Given the description of an element on the screen output the (x, y) to click on. 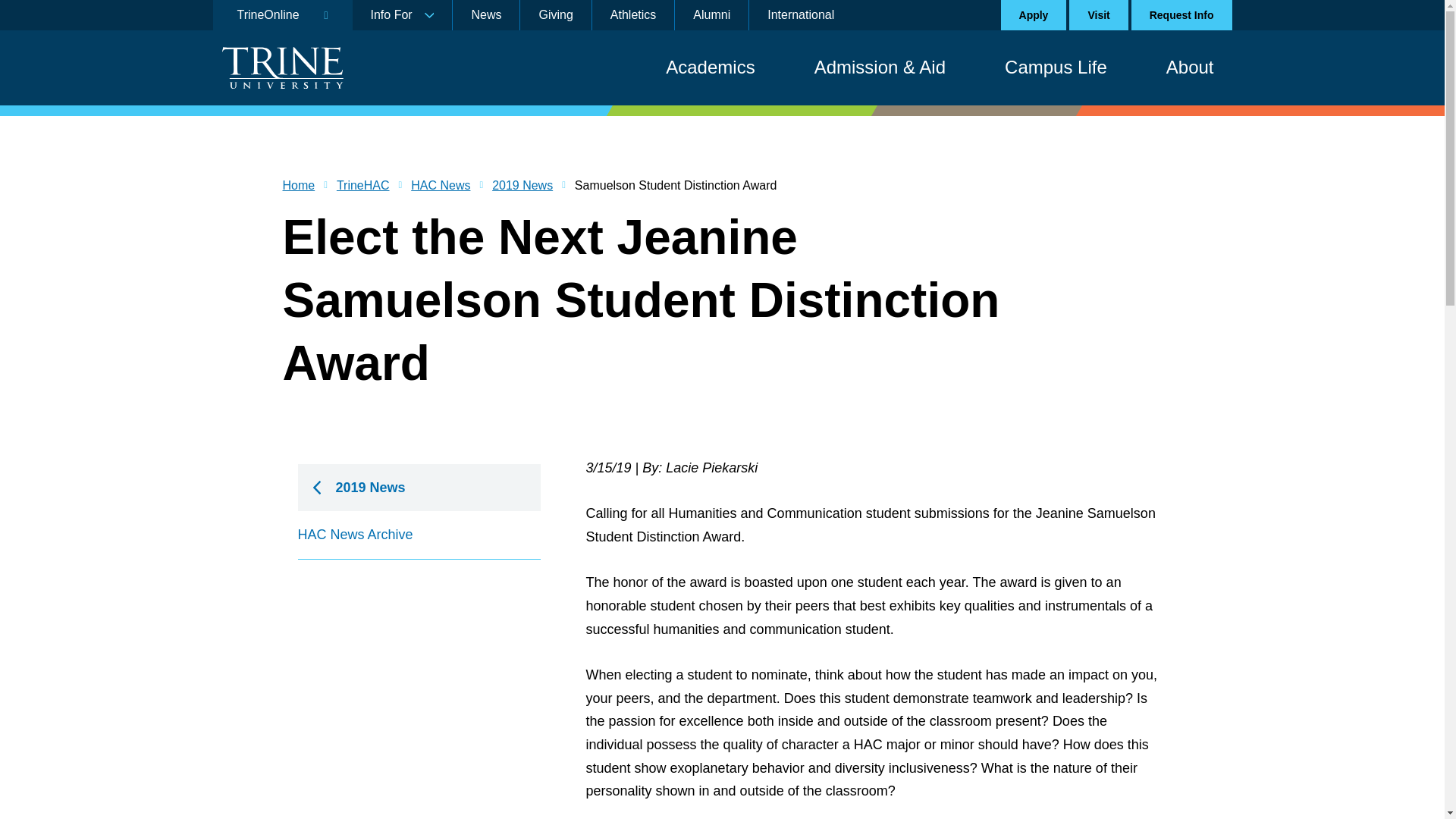
Go to parent page: TrineHAC (363, 185)
Visit Trine University (1097, 15)
Apply to Trine University (1034, 15)
Home page for Trine University (281, 67)
Go to parent page: Home (298, 185)
Request information from Trine University (1181, 15)
Academics (709, 67)
Open audience information menu (401, 15)
Go to parent page: 2019 News (522, 185)
